Given the description of an element on the screen output the (x, y) to click on. 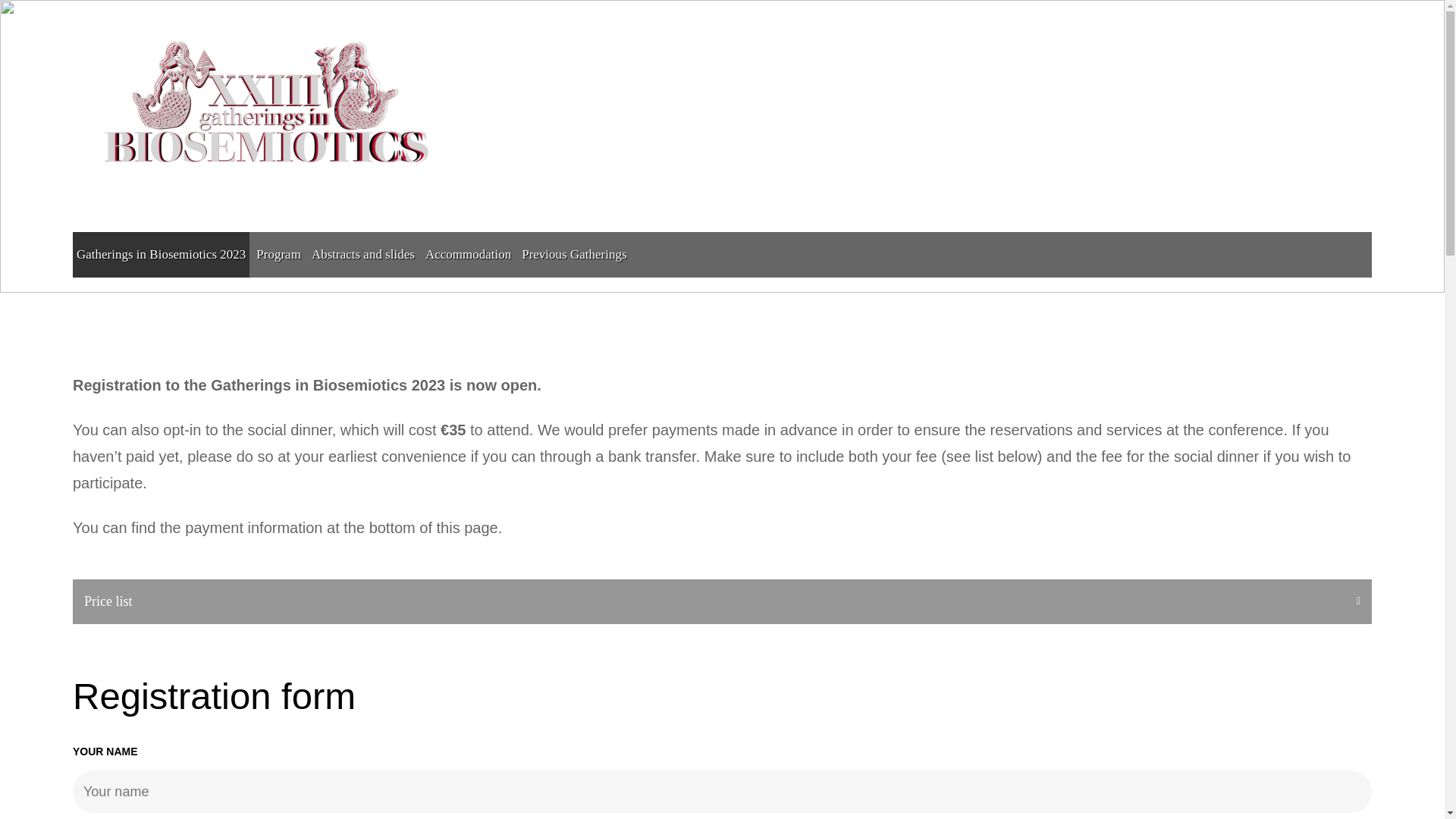
Gatherings in Biosemiotics 2023 (160, 254)
Program (277, 254)
Previous Gatherings (574, 254)
Abstracts and slides (363, 254)
Accommodation (468, 254)
